Given the description of an element on the screen output the (x, y) to click on. 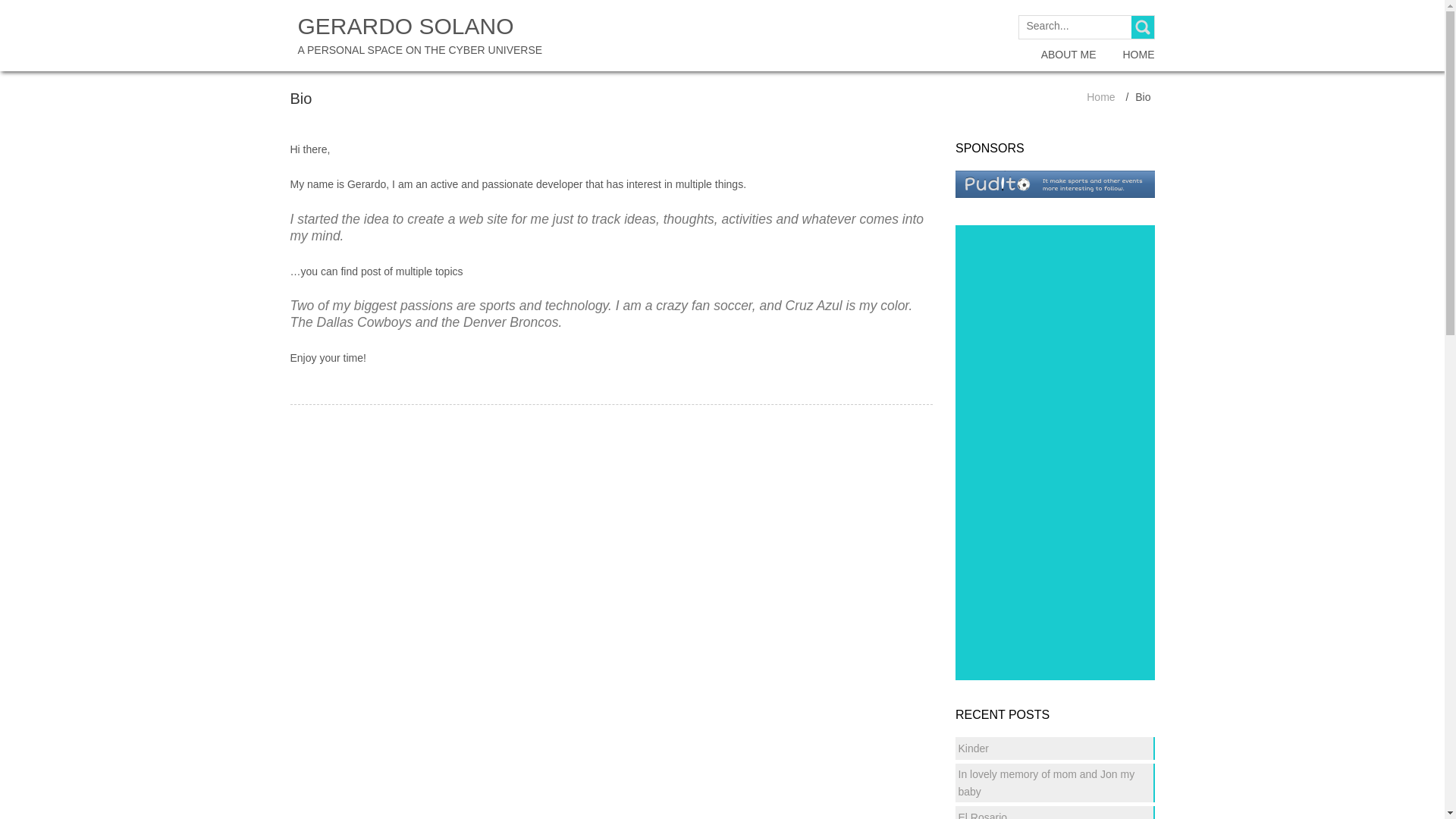
HOME (1138, 55)
In lovely memory of mom and Jon my baby (1046, 782)
Kinder (973, 748)
GERARDO SOLANO (419, 35)
El Rosario (982, 815)
Home (1100, 96)
Gerardo Solano (1100, 96)
ABOUT ME (1068, 55)
